Given the description of an element on the screen output the (x, y) to click on. 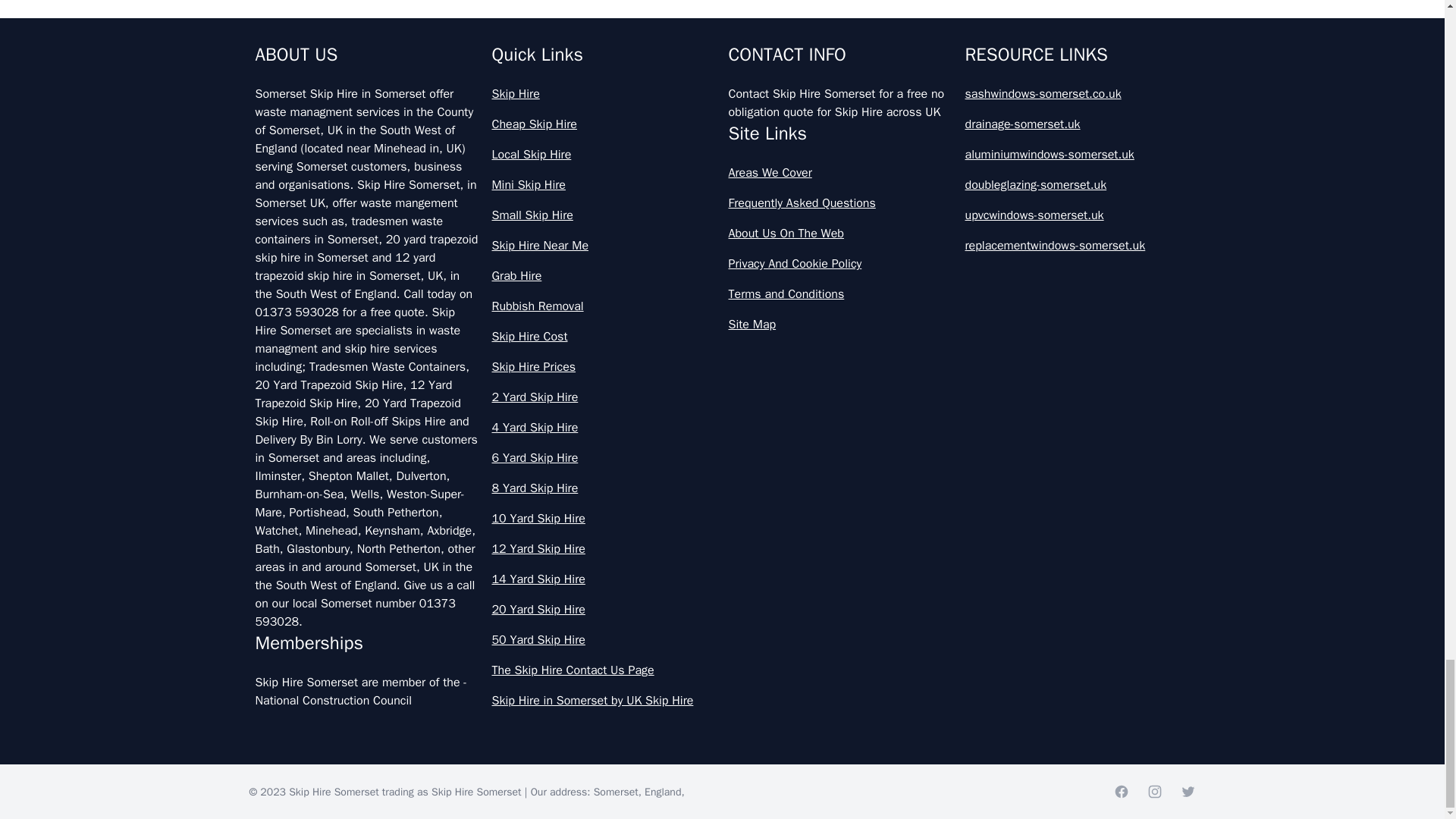
sashwindows-somerset.co.uk (1076, 94)
Lower Somerton (945, 16)
Lydford-on Fosse (486, 79)
aluminiumwindows-somerset.uk (1076, 154)
Lower Foddington (486, 16)
replacementwindows-somerset.uk (1076, 245)
Skip Hire in Somerset by UK Skip Hire (604, 700)
upvcwindows-somerset.uk (1076, 215)
doubleglazing-somerset.uk (1076, 185)
Steart (486, 152)
Lytes Cary (945, 79)
drainage-somerset.uk (1076, 124)
Site Map (840, 324)
